Given the description of an element on the screen output the (x, y) to click on. 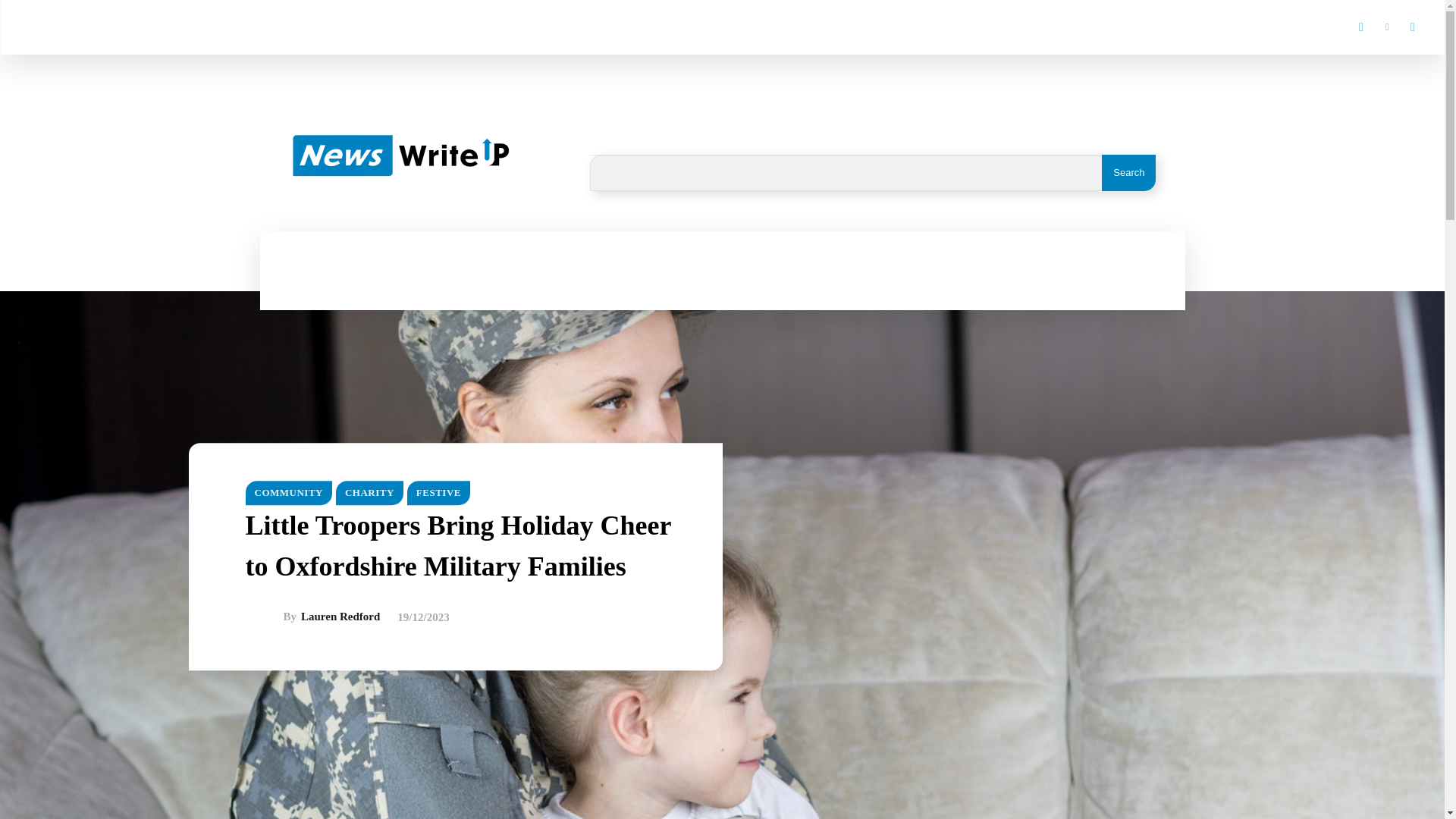
Lauren Redford (264, 616)
Twitter (1412, 27)
Facebook (1361, 27)
Linkedin (1386, 27)
